Given the description of an element on the screen output the (x, y) to click on. 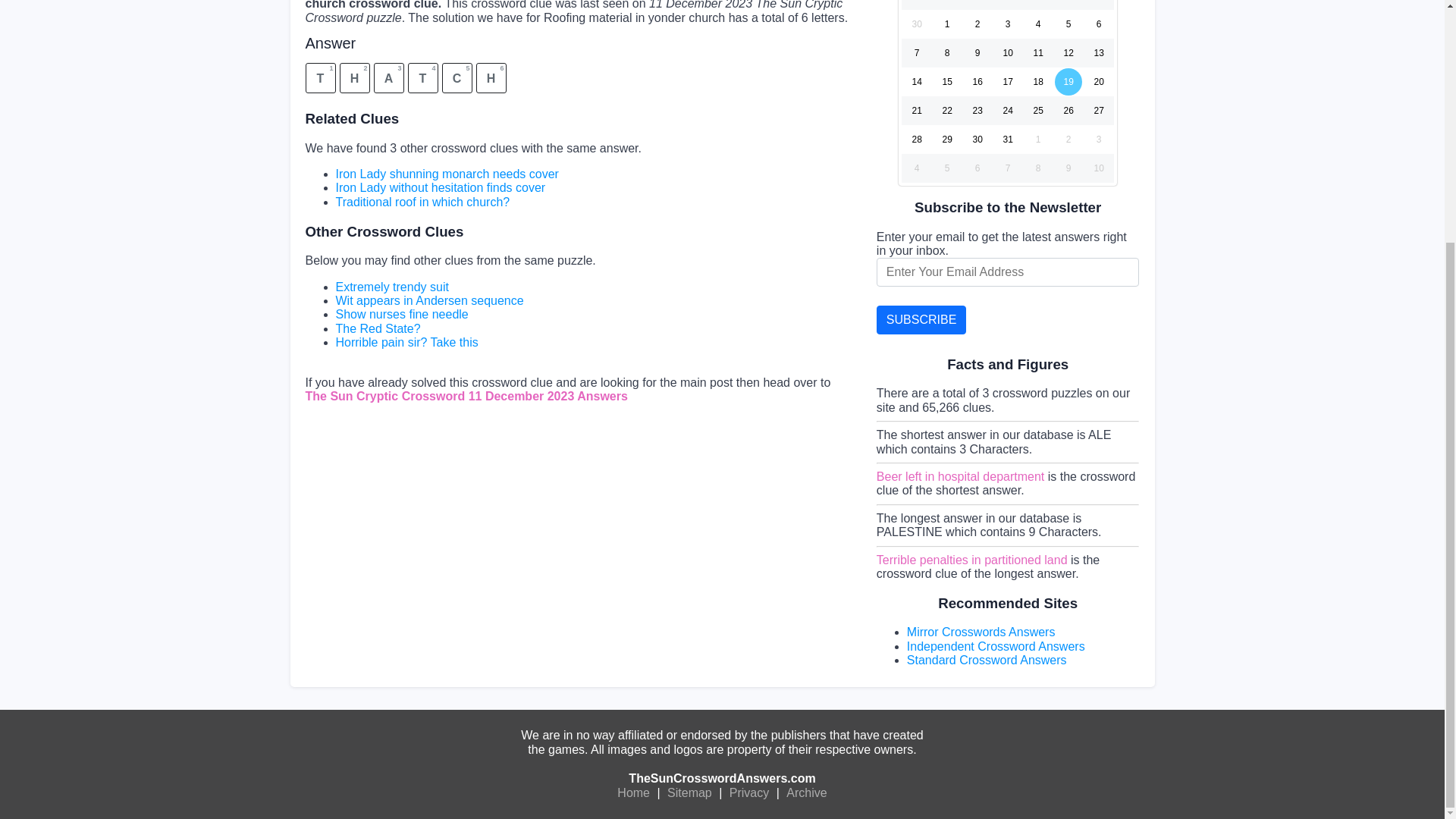
Sitemap (689, 792)
Privacy (749, 792)
Archive (806, 792)
Subscribe (921, 319)
Beer left in hospital department (959, 476)
Terrible penalties in partitioned land (971, 558)
Wit appears in Andersen sequence (428, 300)
Standard Crossword Answers (987, 659)
Mirror Crosswords Answers (981, 631)
The Sun Cryptic Crossword 11 December 2023 Answers (465, 395)
Show nurses fine needle (400, 314)
Iron Lady shunning monarch needs cover (445, 173)
Independent Crossword Answers (995, 645)
TheSunCrosswordAnswers.com (721, 778)
Traditional roof in which church? (421, 201)
